Given the description of an element on the screen output the (x, y) to click on. 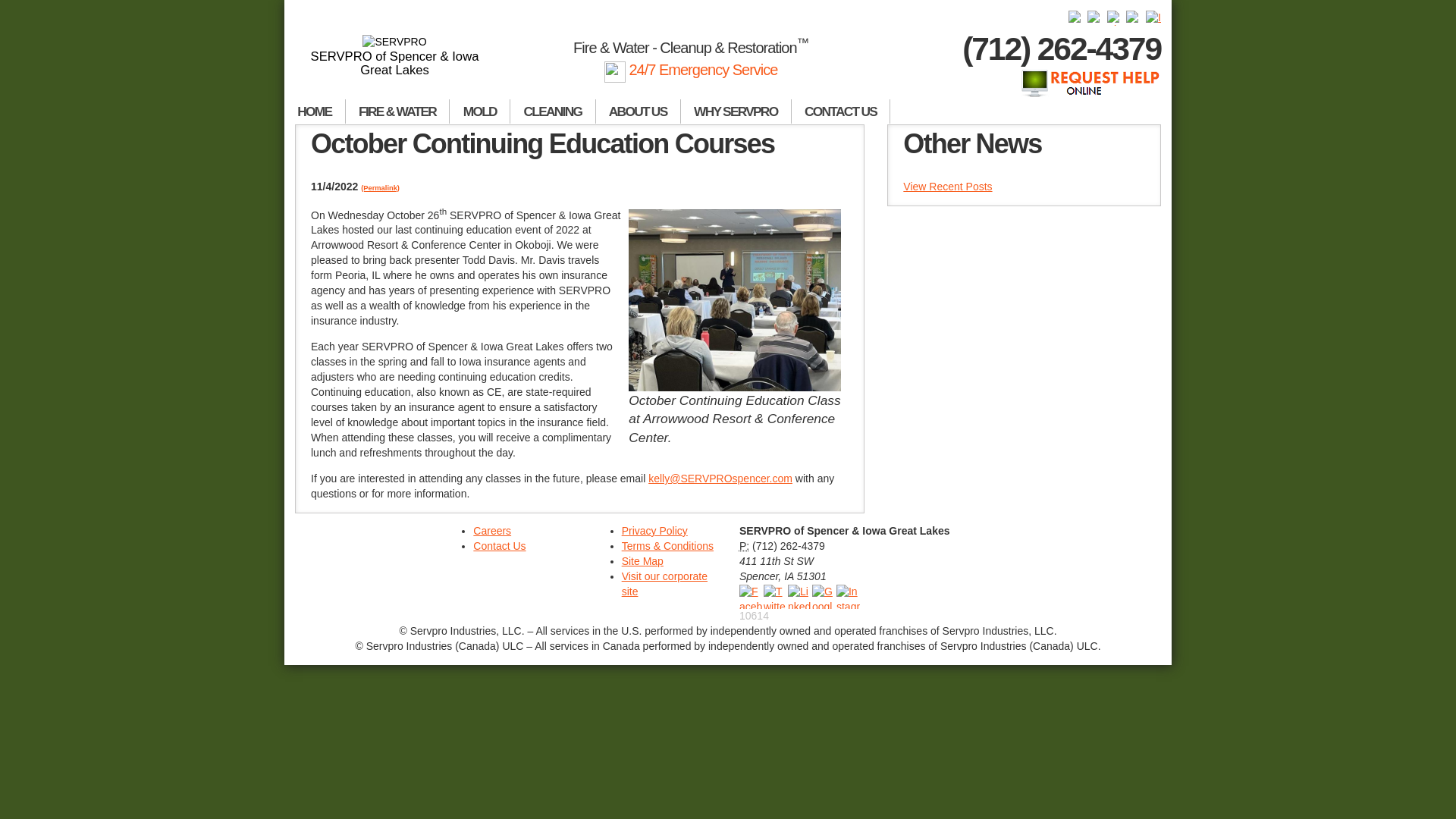
Phone (744, 545)
CLEANING (553, 111)
HOME (314, 111)
ABOUT US (638, 111)
MOLD (480, 111)
